Given the description of an element on the screen output the (x, y) to click on. 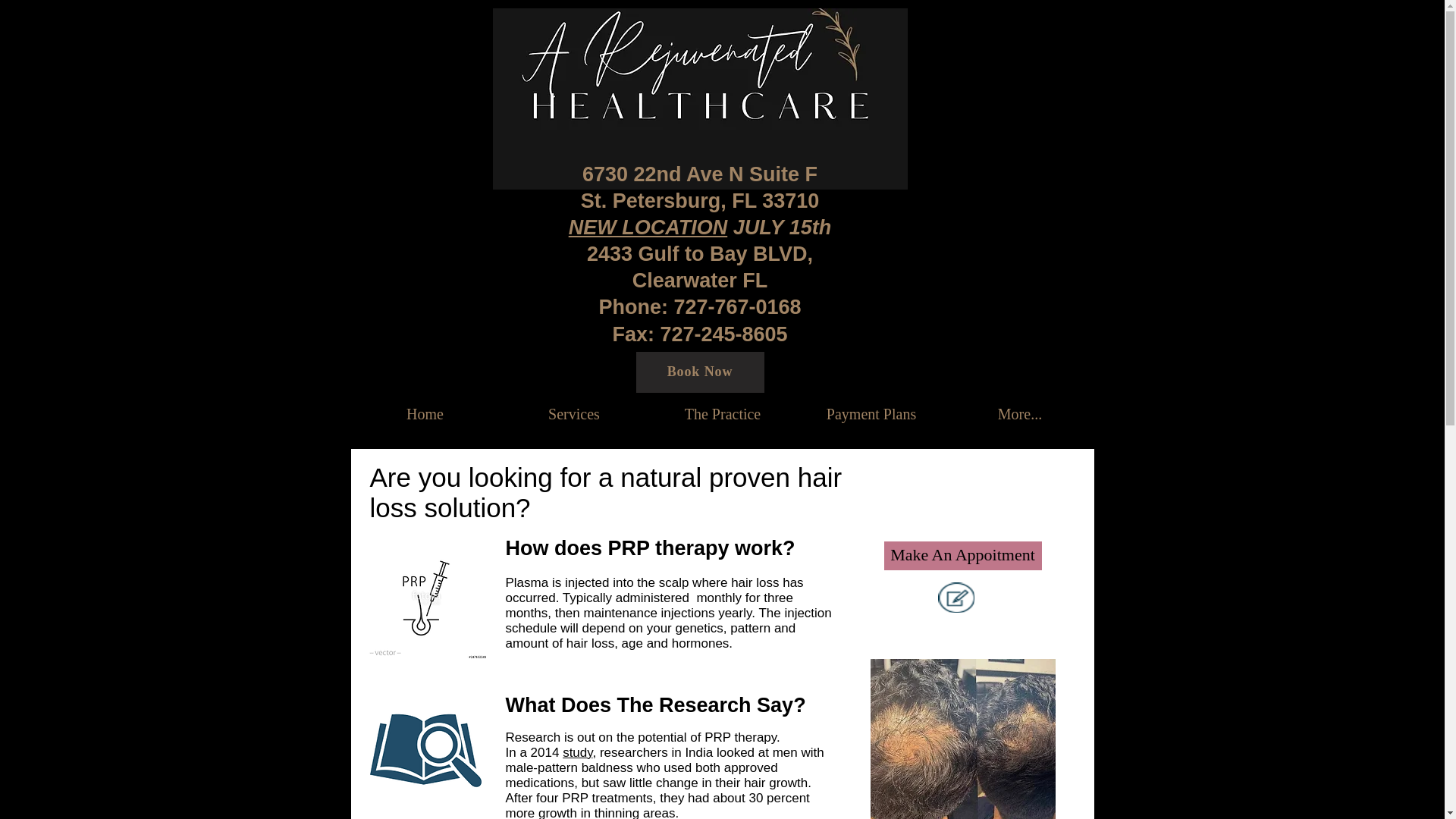
Book Now (698, 372)
Services (573, 413)
The Practice (721, 413)
study (577, 752)
Payment Plans (870, 413)
Make An Appoitment (962, 555)
Home (424, 413)
